Given the description of an element on the screen output the (x, y) to click on. 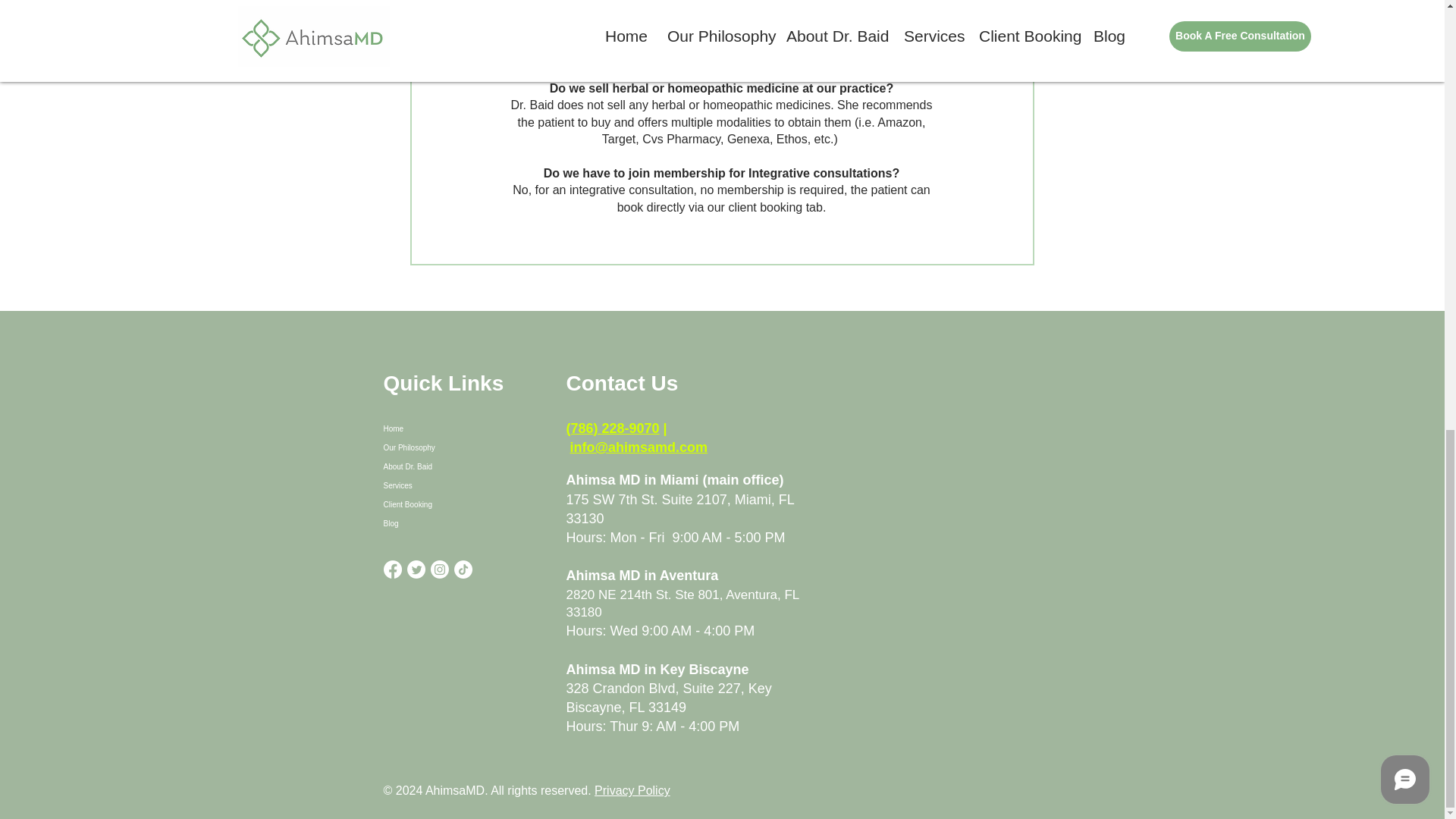
Home (460, 428)
Services (460, 485)
Blog (460, 523)
Our Philosophy (460, 447)
About Dr. Baid (460, 466)
Client Booking (460, 504)
